Given the description of an element on the screen output the (x, y) to click on. 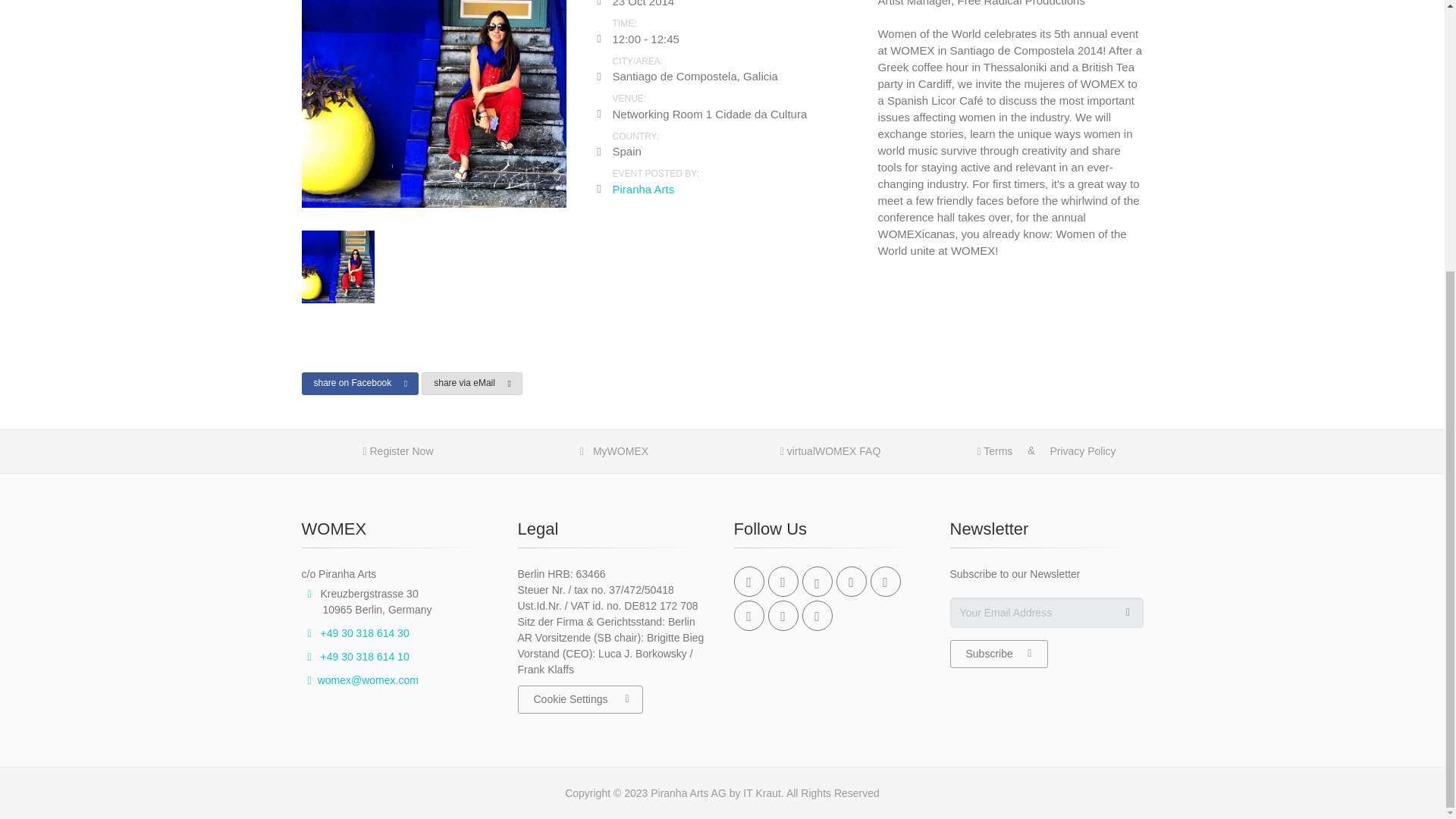
Privacy Policy (1081, 451)
share on Facebook (360, 383)
Piranha Arts (642, 188)
virtualWOMEX FAQ (830, 451)
MyWOMEX (614, 451)
Register Now (397, 451)
Cookie Settings (579, 699)
share via eMail (472, 383)
Terms (994, 451)
